Given the description of an element on the screen output the (x, y) to click on. 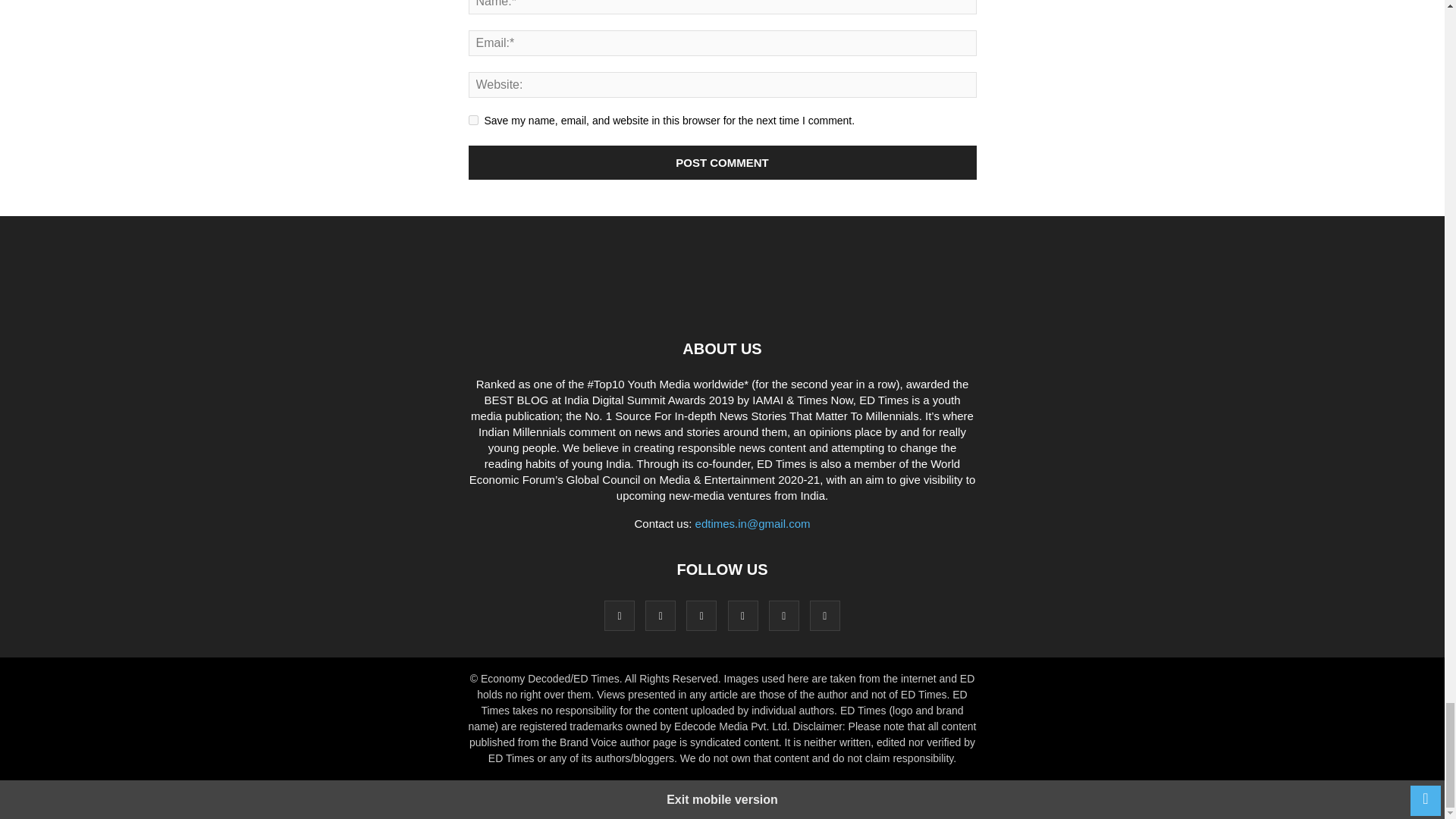
Post Comment (722, 162)
yes (473, 120)
